Given the description of an element on the screen output the (x, y) to click on. 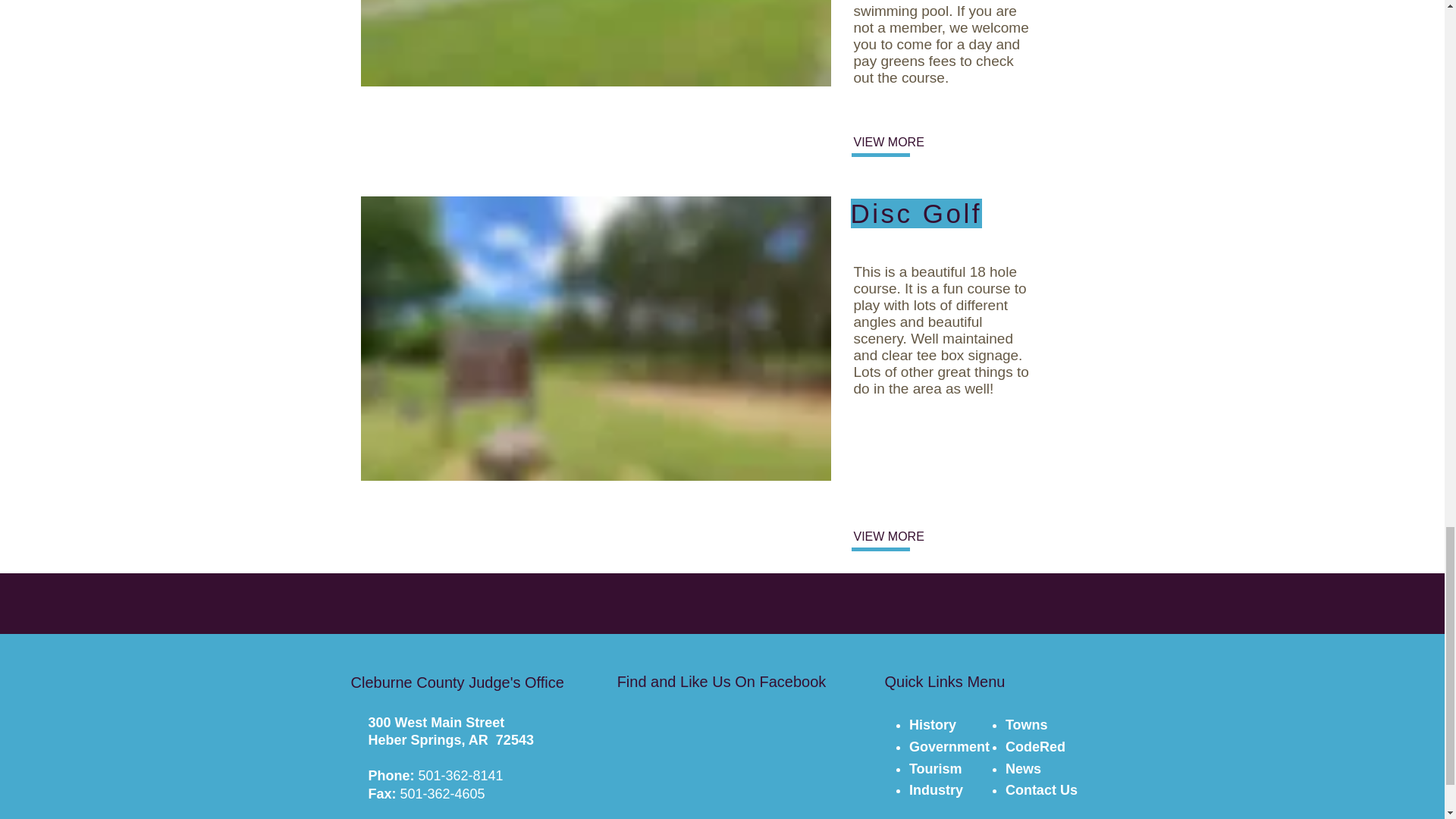
VIEW MORE (903, 142)
VIEW MORE (903, 537)
